Given the description of an element on the screen output the (x, y) to click on. 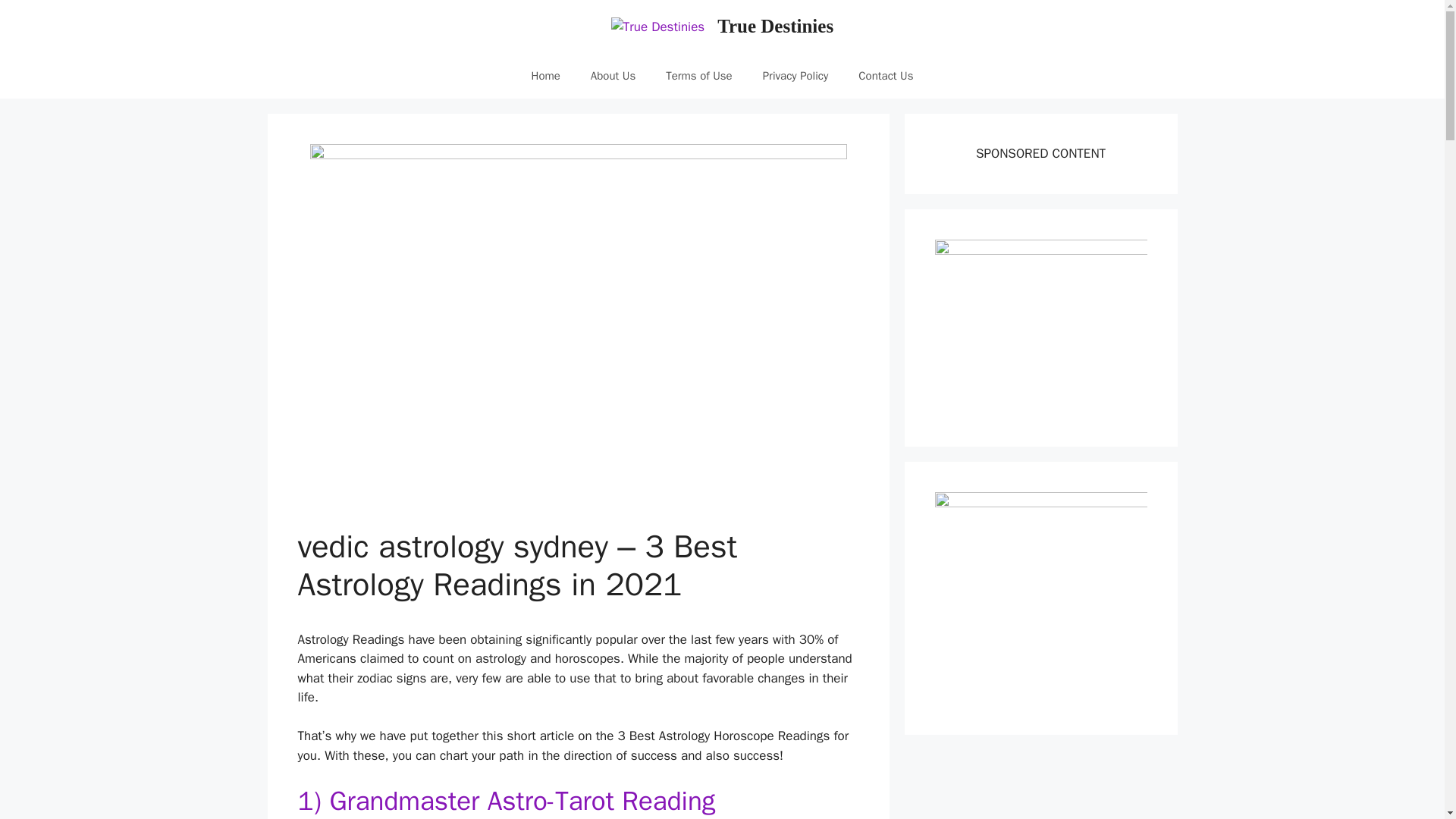
About Us (612, 75)
Home (545, 75)
Terms of Use (699, 75)
Privacy Policy (796, 75)
True Destinies (774, 25)
Contact Us (885, 75)
